Given the description of an element on the screen output the (x, y) to click on. 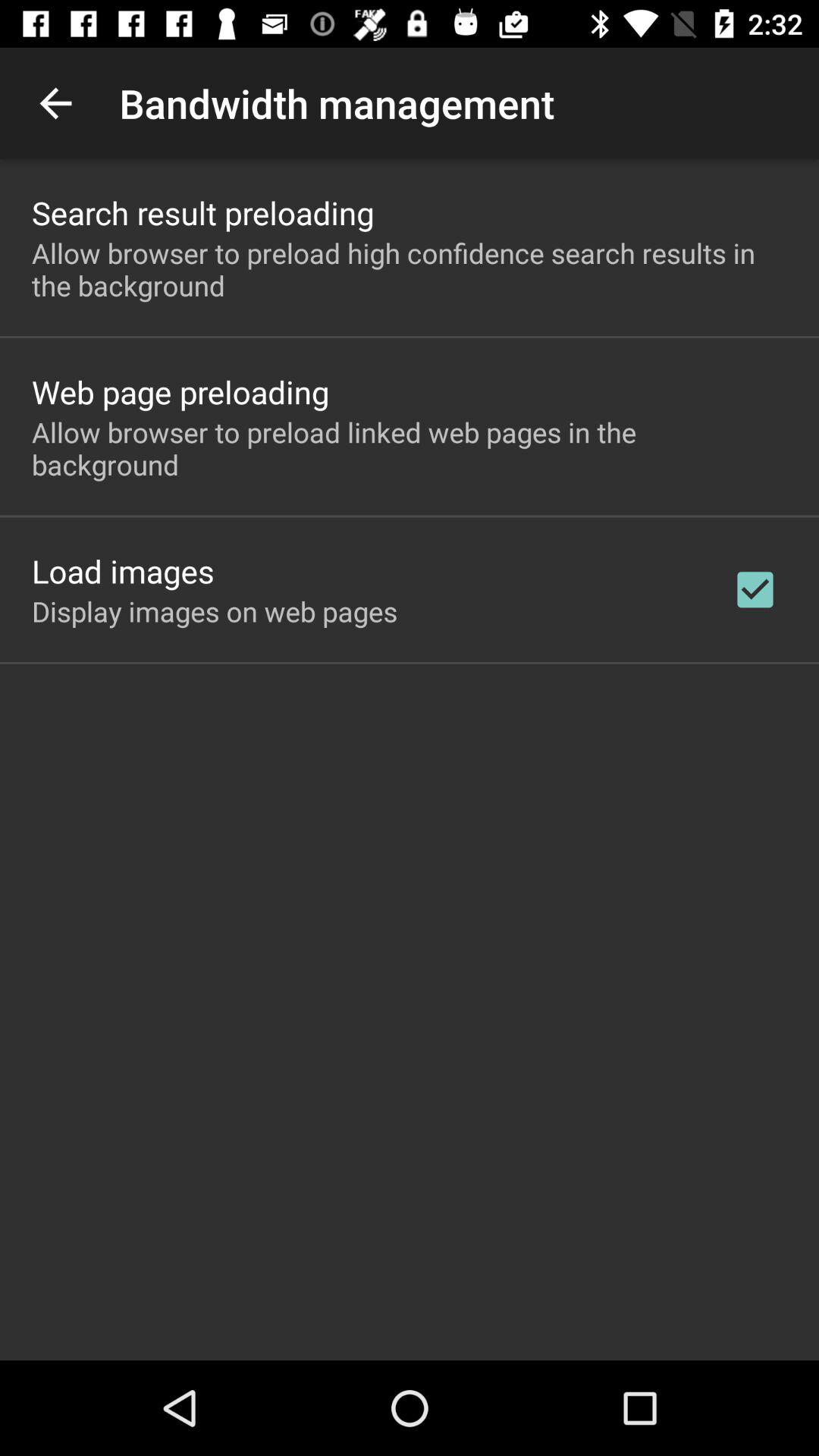
tap the icon below allow browser to item (755, 589)
